Given the description of an element on the screen output the (x, y) to click on. 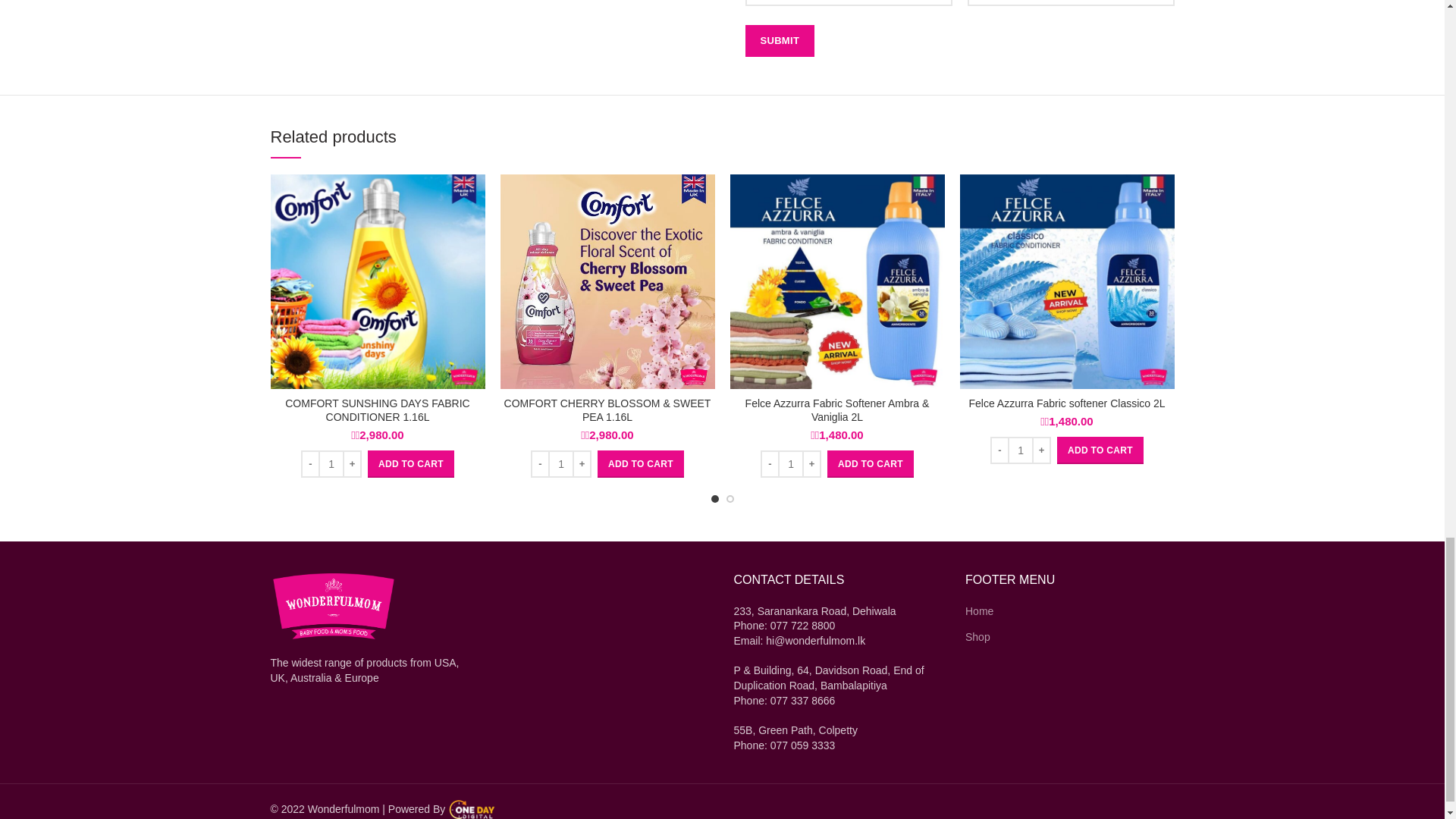
Submit (778, 40)
